Given the description of an element on the screen output the (x, y) to click on. 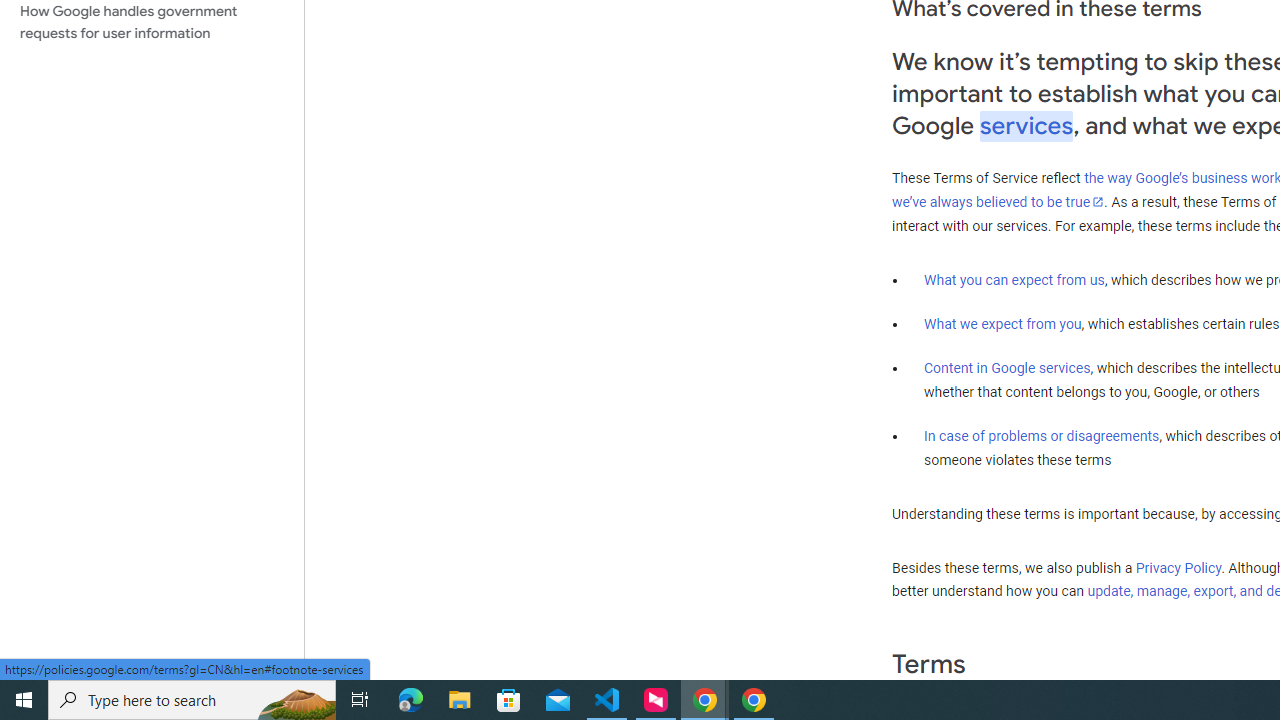
What we expect from you (1002, 323)
What you can expect from us (1014, 279)
